Given the description of an element on the screen output the (x, y) to click on. 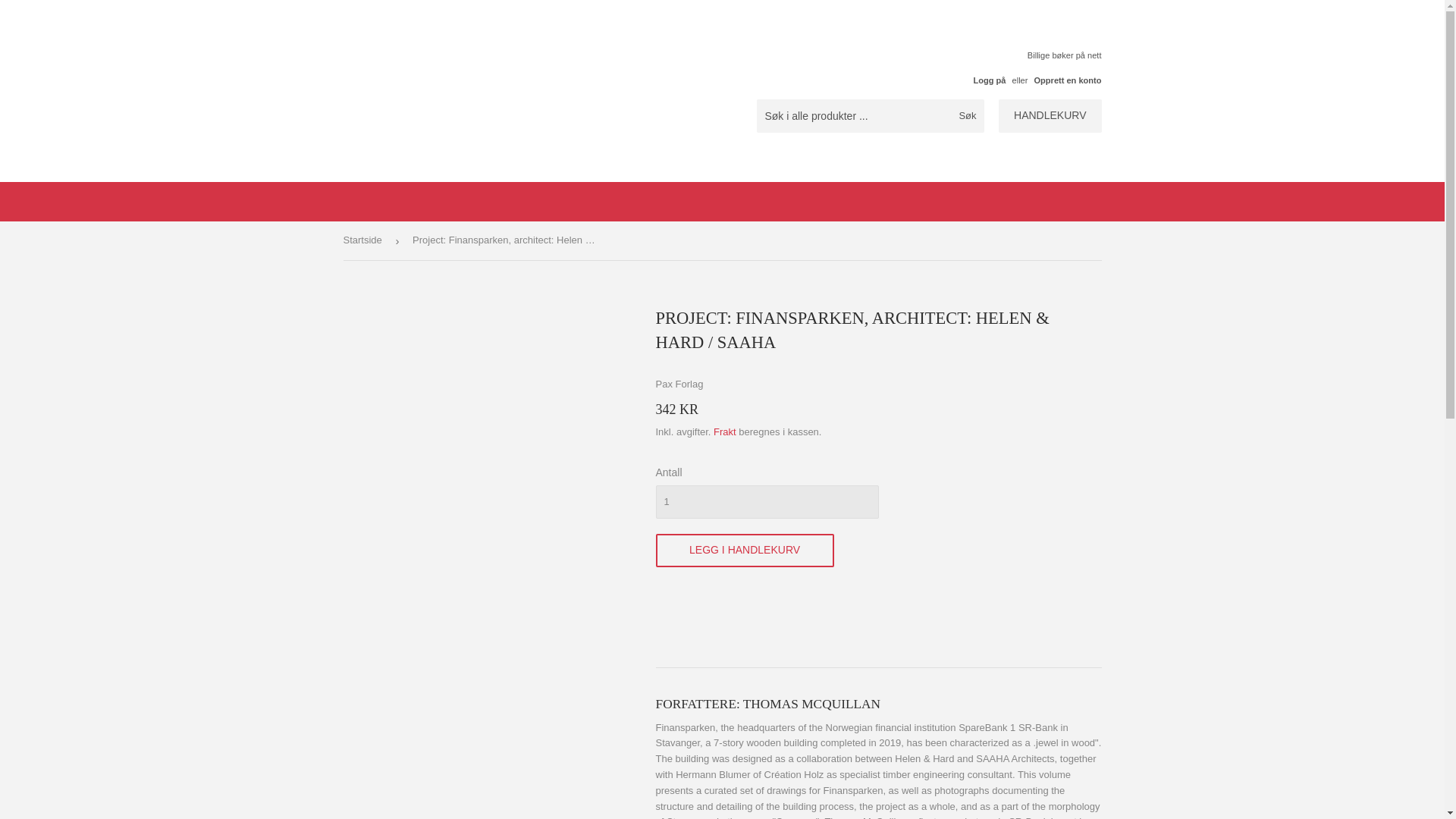
Frakt (724, 431)
Opprett en konto (1067, 80)
1 (766, 501)
HANDLEKURV (1049, 115)
Startside (364, 240)
Tilbake til forsiden (364, 240)
LEGG I HANDLEKURV (743, 550)
